Given the description of an element on the screen output the (x, y) to click on. 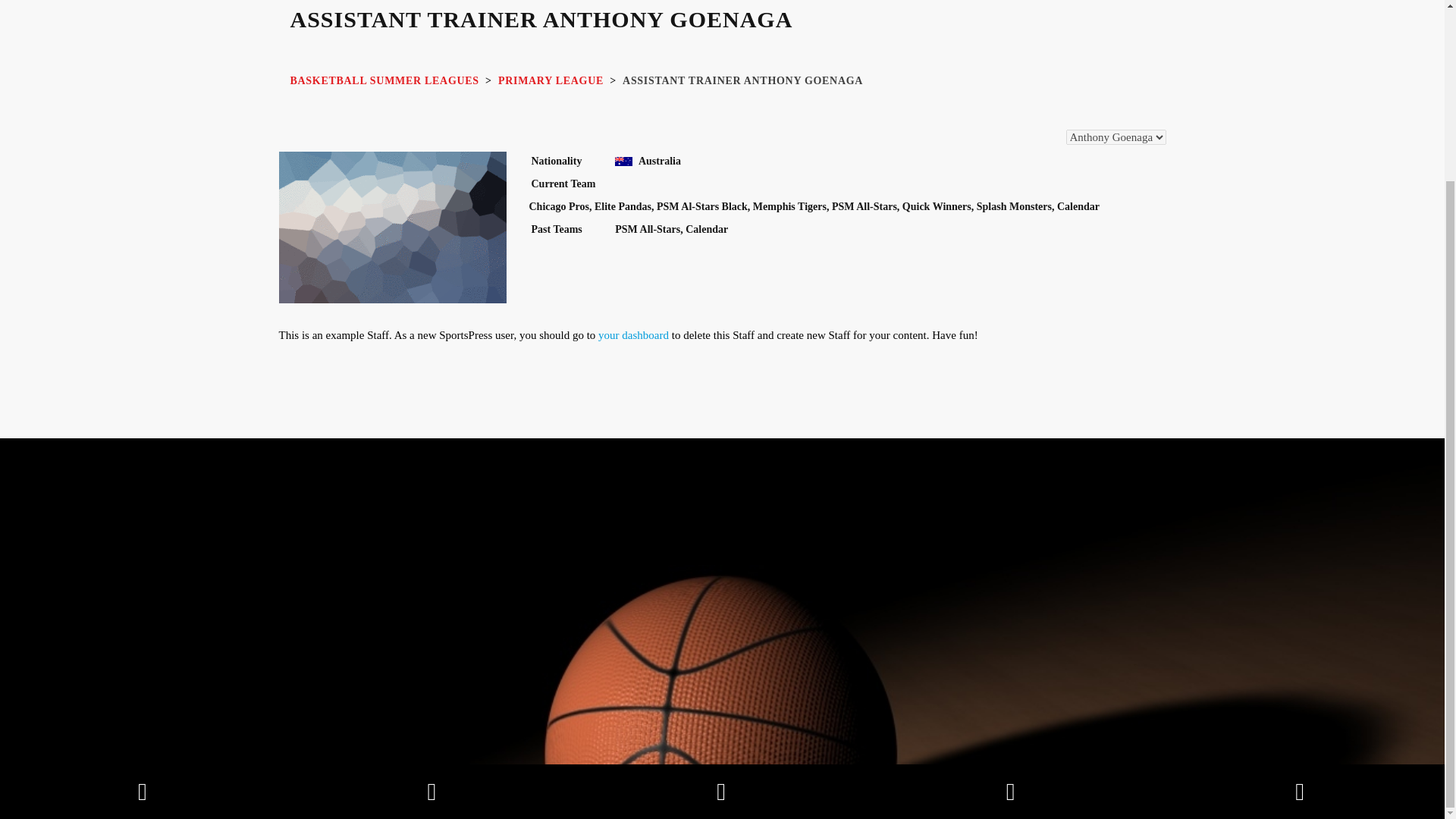
16 Celebrities Who Own Sports Teams (599, 470)
Celtics Aggressively Shopping 3rd Overall Pick (599, 397)
2016 Offseason Preview (599, 330)
your dashboard (633, 335)
Hello world! (599, 210)
BASKETBALL SUMMER LEAGUES (384, 80)
Three Question NBA Finals Preview (599, 270)
Go to the Primary League League archives. (550, 80)
Go to Basketball Summer Leagues. (384, 80)
PRIMARY LEAGUE (550, 80)
